Given the description of an element on the screen output the (x, y) to click on. 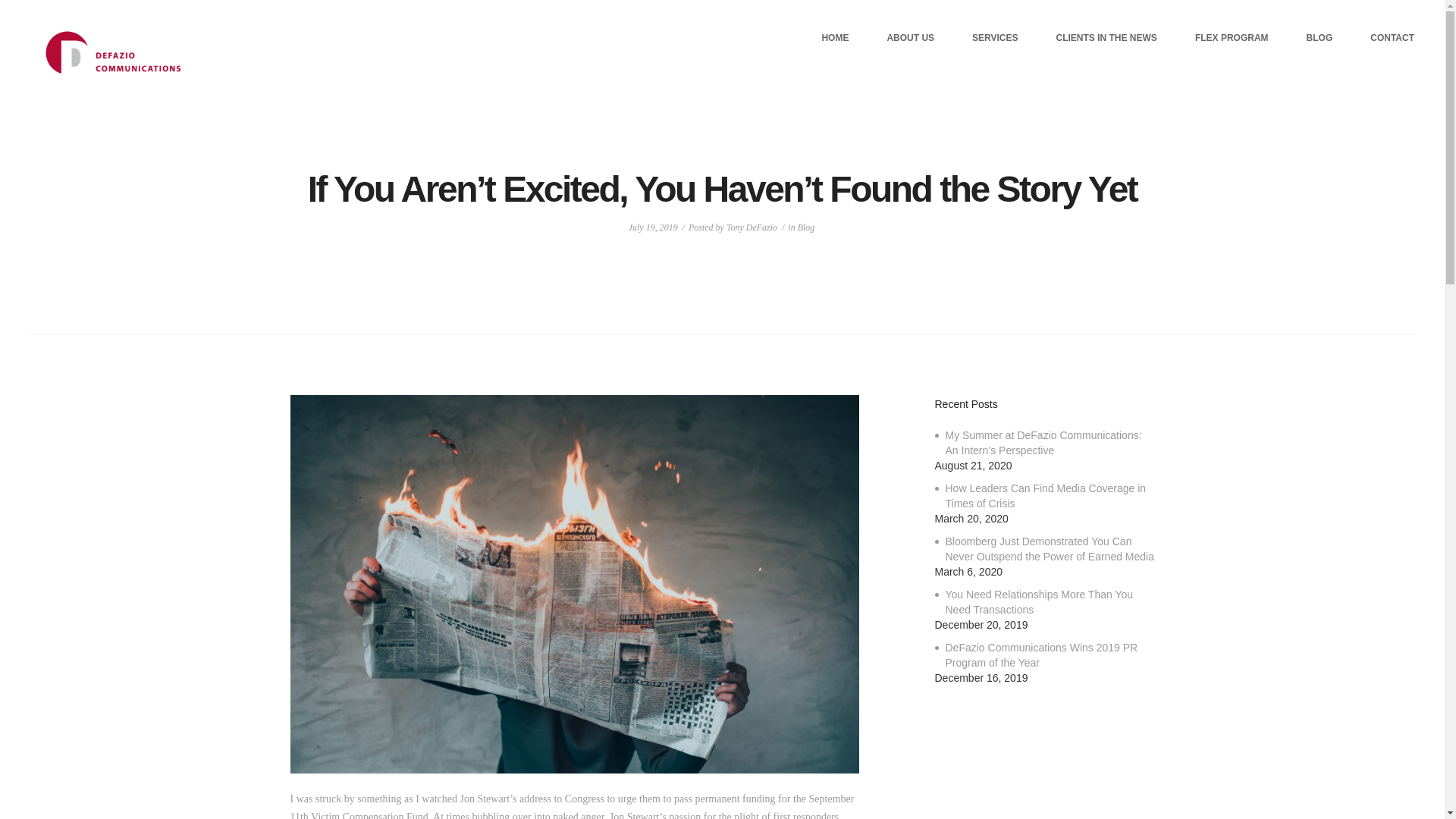
BLOG (1319, 38)
Home (834, 38)
Contact (1391, 38)
Clients in the News (1107, 38)
How Leaders Can Find Media Coverage in Times of Crisis (1044, 496)
Defazio Communications (112, 52)
HOME (834, 38)
ABOUT US (910, 38)
Flex Program (1231, 38)
CONTACT (1391, 38)
About Us (910, 38)
CLIENTS IN THE NEWS (1107, 38)
DeFazio Communications Wins 2019 PR Program of the Year (1044, 655)
Blog (1319, 38)
